Given the description of an element on the screen output the (x, y) to click on. 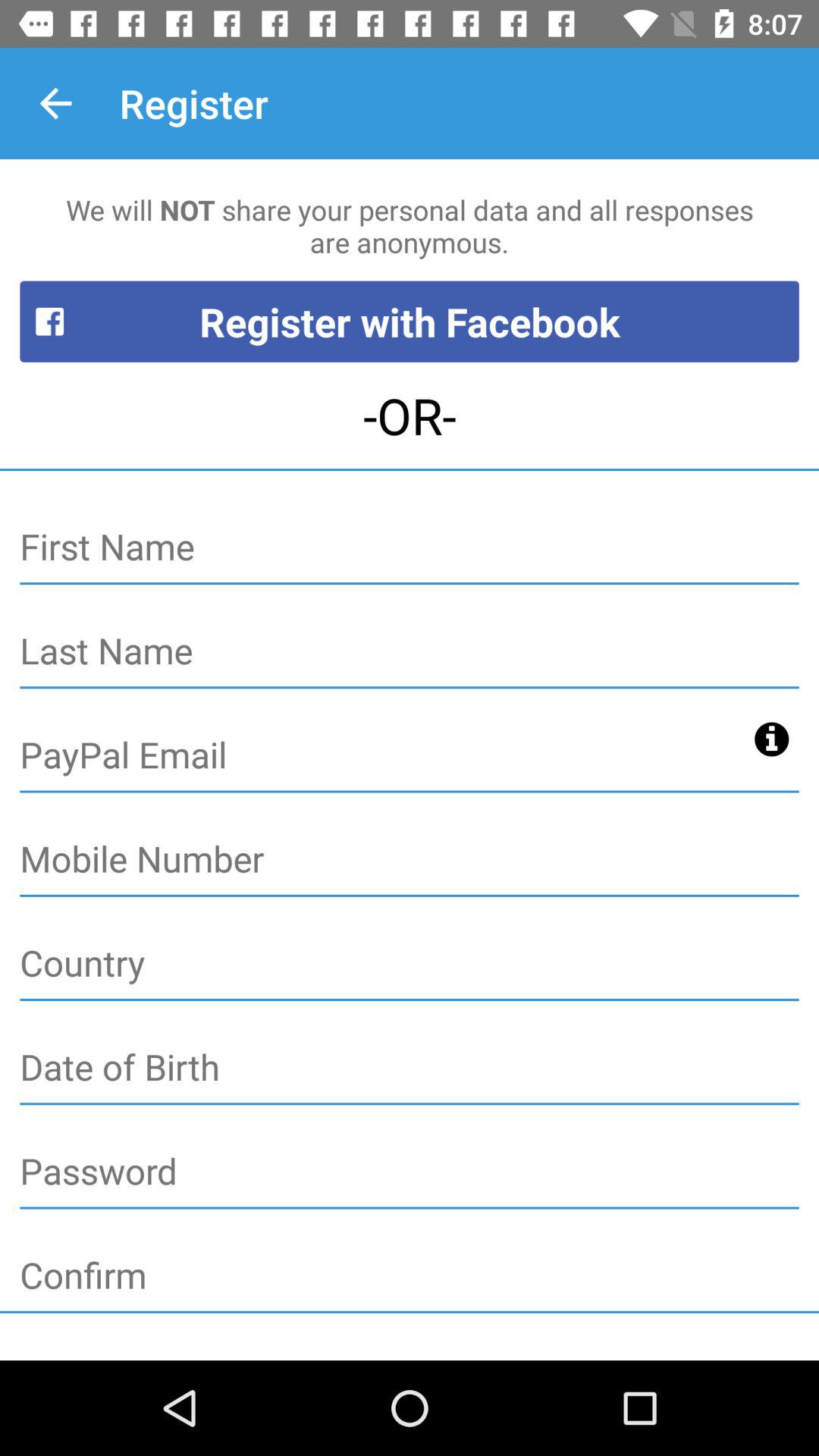
enter (409, 651)
